Given the description of an element on the screen output the (x, y) to click on. 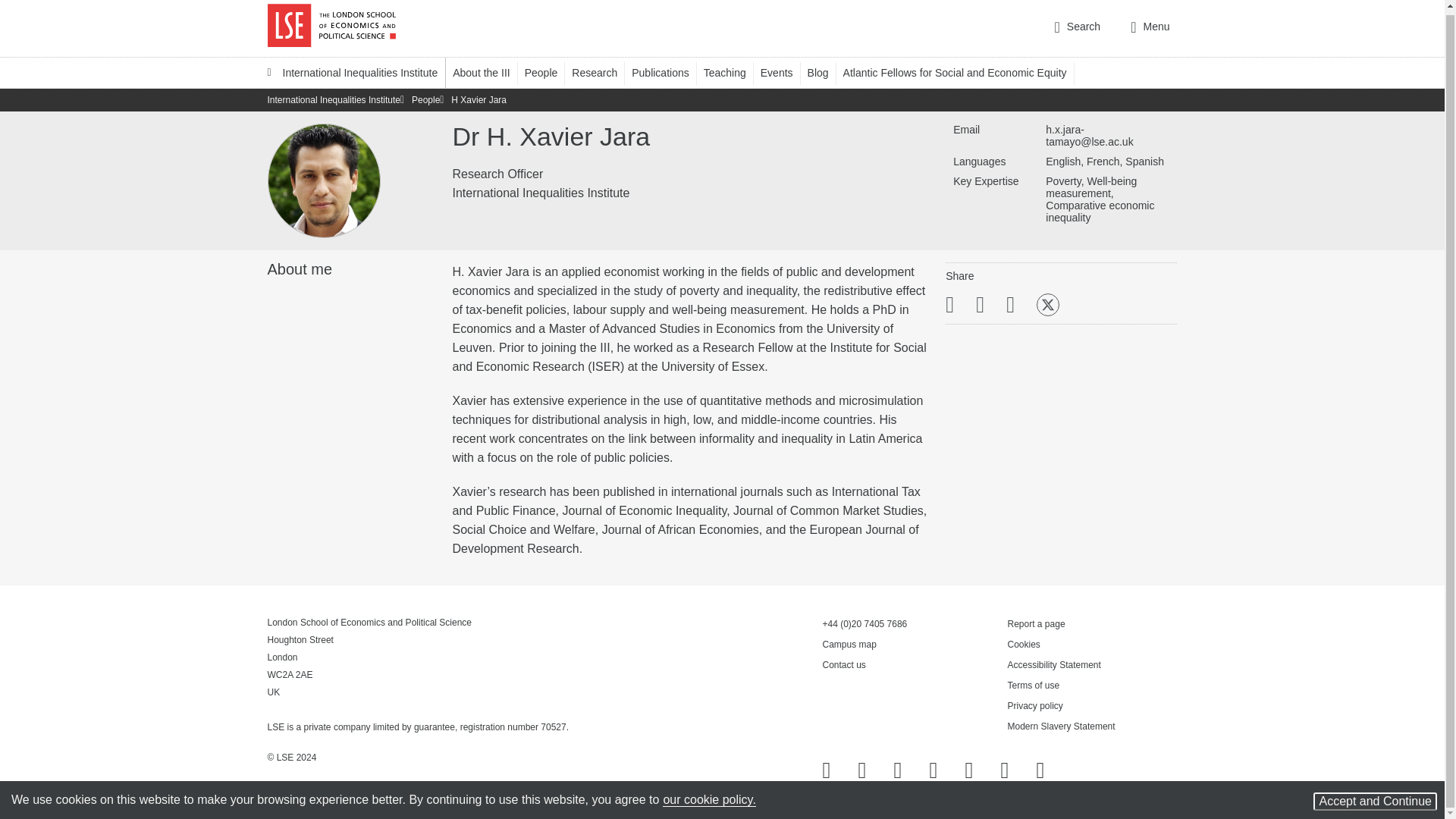
Publications (667, 72)
International Inequalities Institute (352, 72)
Search (1077, 28)
London School of Economics and Political Science (330, 26)
Events (784, 72)
People (548, 72)
Atlantic Fellows for Social and Economic Equity (962, 72)
Research (601, 72)
Teaching (731, 72)
About the III (488, 72)
